Given the description of an element on the screen output the (x, y) to click on. 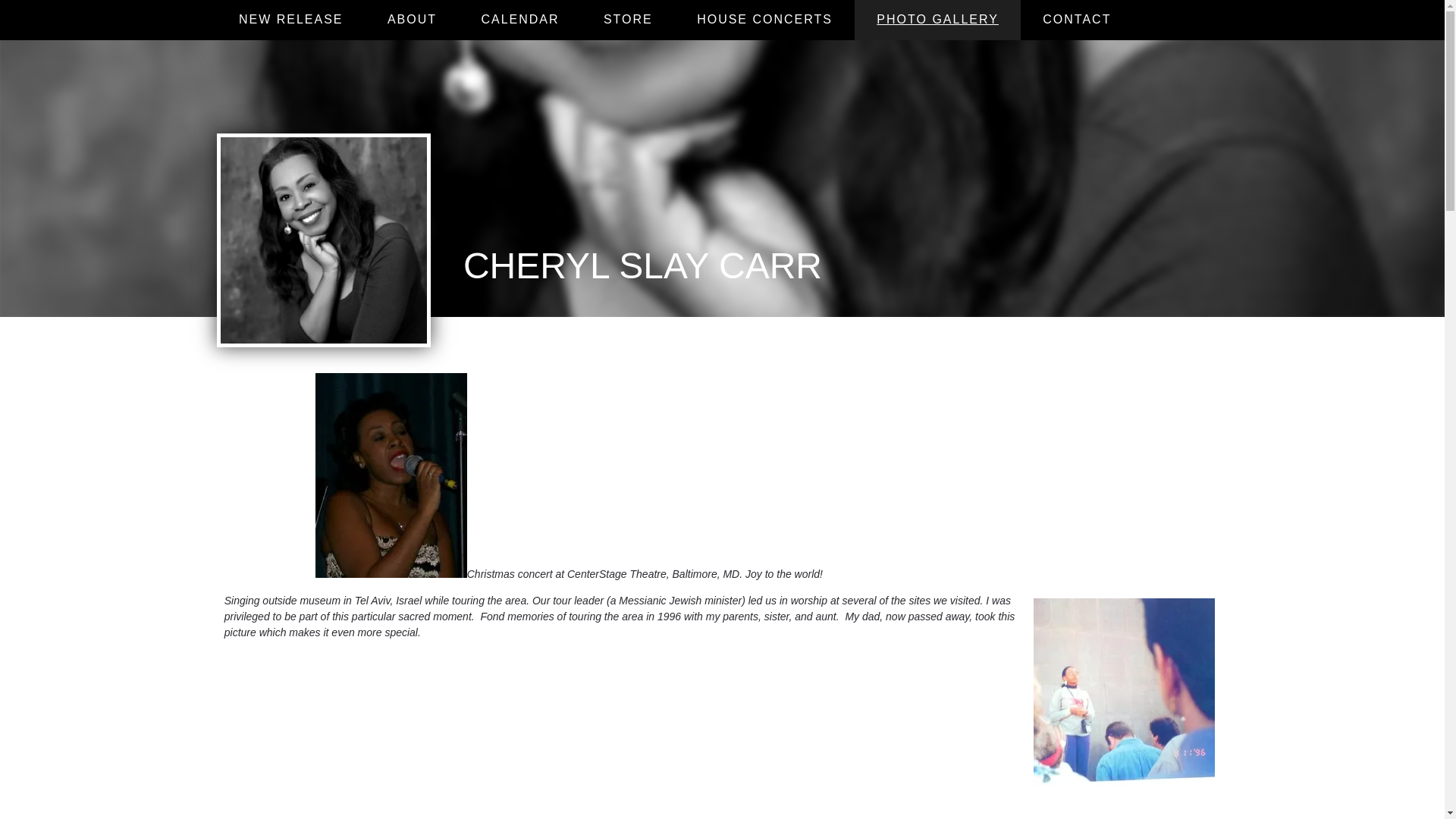
CONTACT (1077, 20)
CHERYL SLAY CARR (642, 271)
NEW RELEASE (290, 20)
CALENDAR (519, 20)
PHOTO GALLERY (937, 20)
HOUSE CONCERTS (764, 20)
STORE (627, 20)
ABOUT (412, 20)
